Given the description of an element on the screen output the (x, y) to click on. 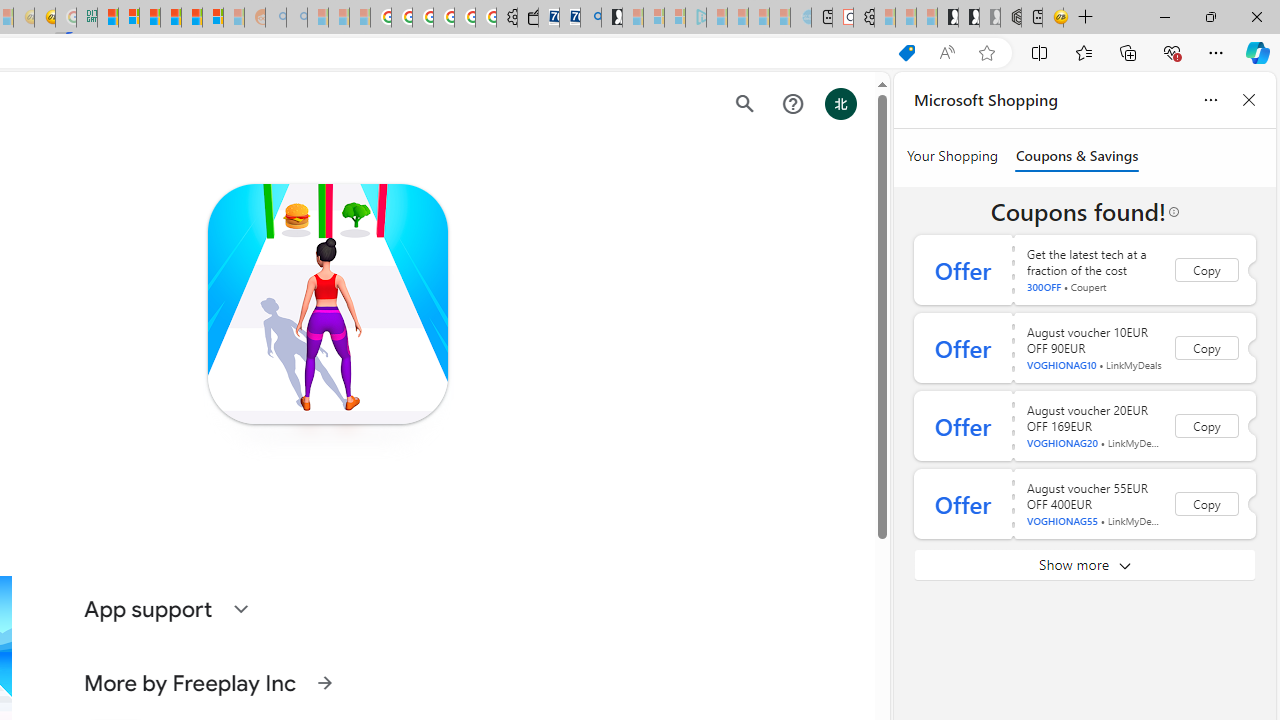
Utah sues federal government - Search - Sleeping (296, 17)
Search (744, 103)
Expand (240, 608)
DITOGAMES AG Imprint (86, 17)
New Tab (1085, 17)
Close (1256, 16)
Collections (1128, 52)
Settings and more (Alt+F) (1215, 52)
Settings (863, 17)
